Given the description of an element on the screen output the (x, y) to click on. 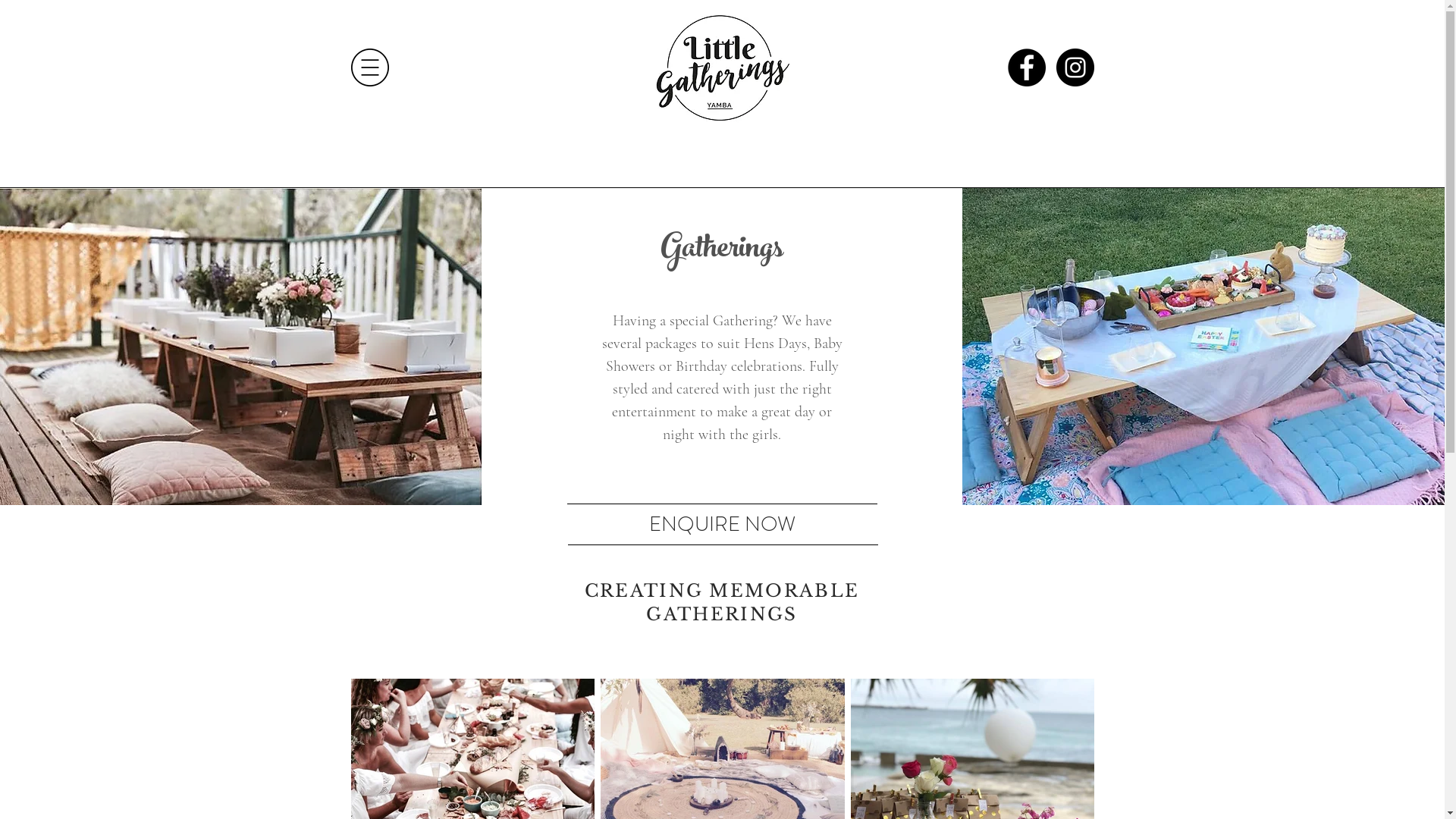
ENQUIRE NOW Element type: text (722, 522)
